Given the description of an element on the screen output the (x, y) to click on. 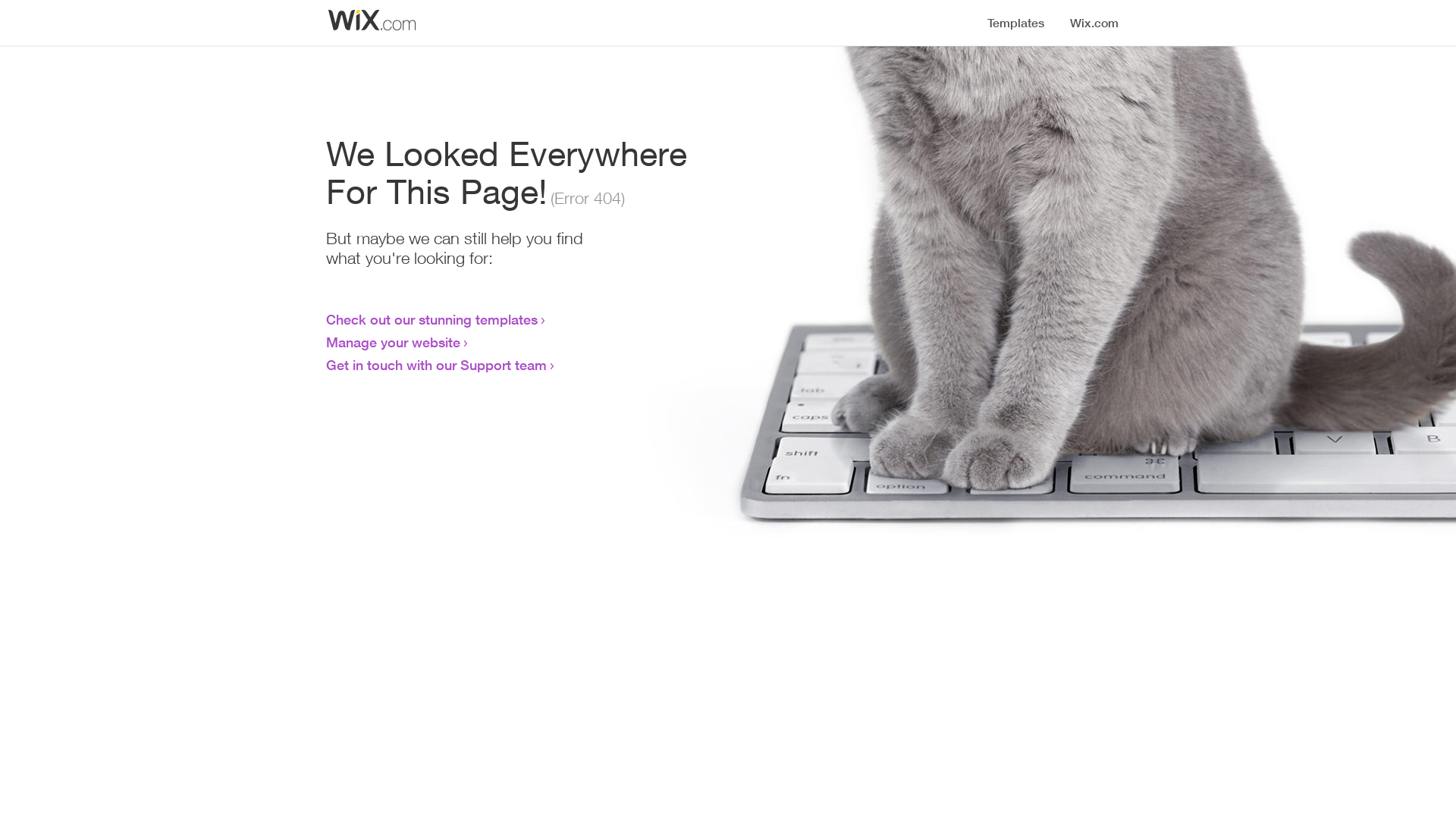
Check out our stunning templates Element type: text (431, 318)
Get in touch with our Support team Element type: text (436, 364)
Manage your website Element type: text (393, 341)
